Given the description of an element on the screen output the (x, y) to click on. 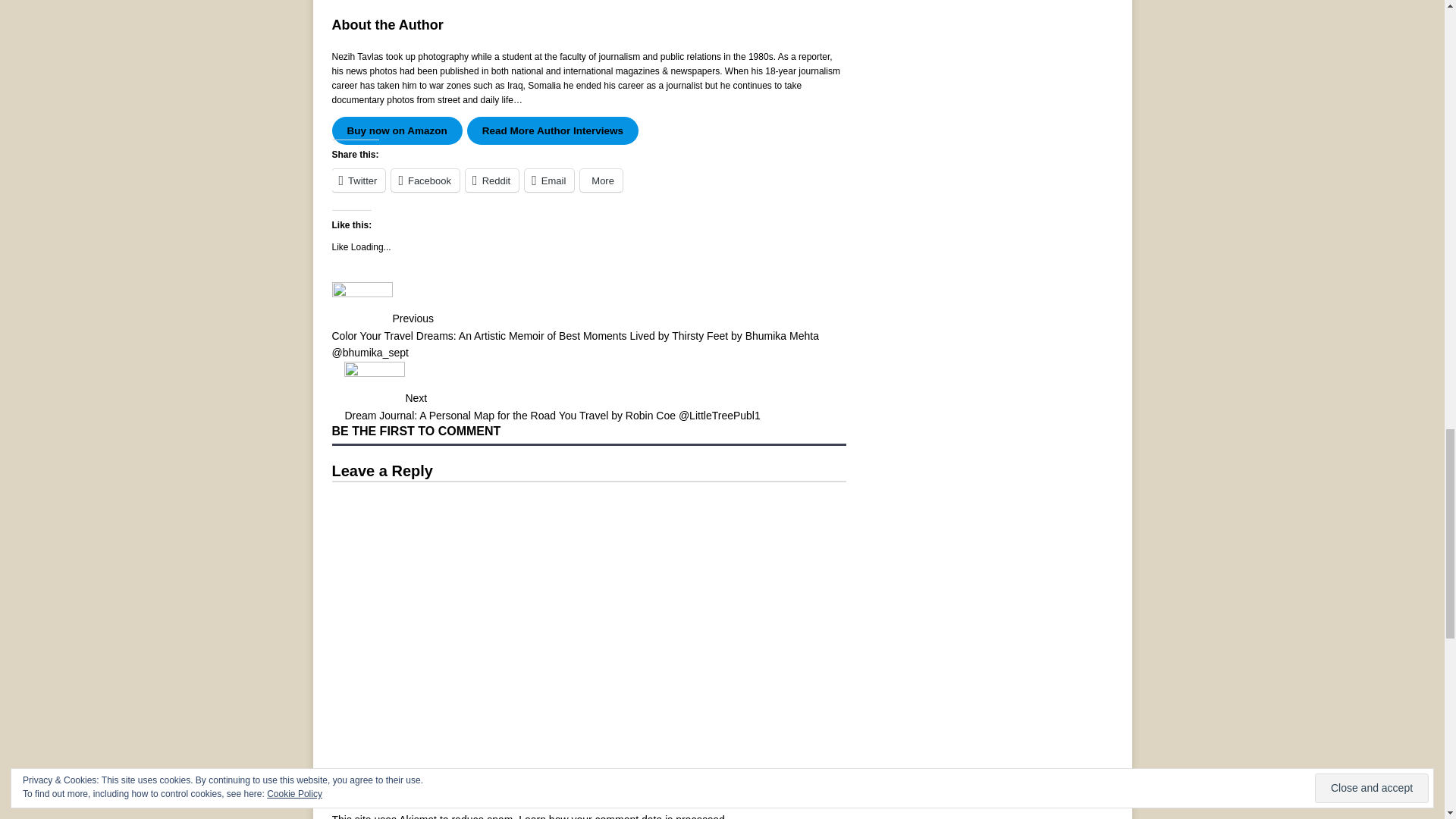
Click to email a link to a friend (548, 179)
Click to share on Twitter (358, 179)
Click to share on Facebook (425, 179)
Click to share on Reddit (491, 179)
